Given the description of an element on the screen output the (x, y) to click on. 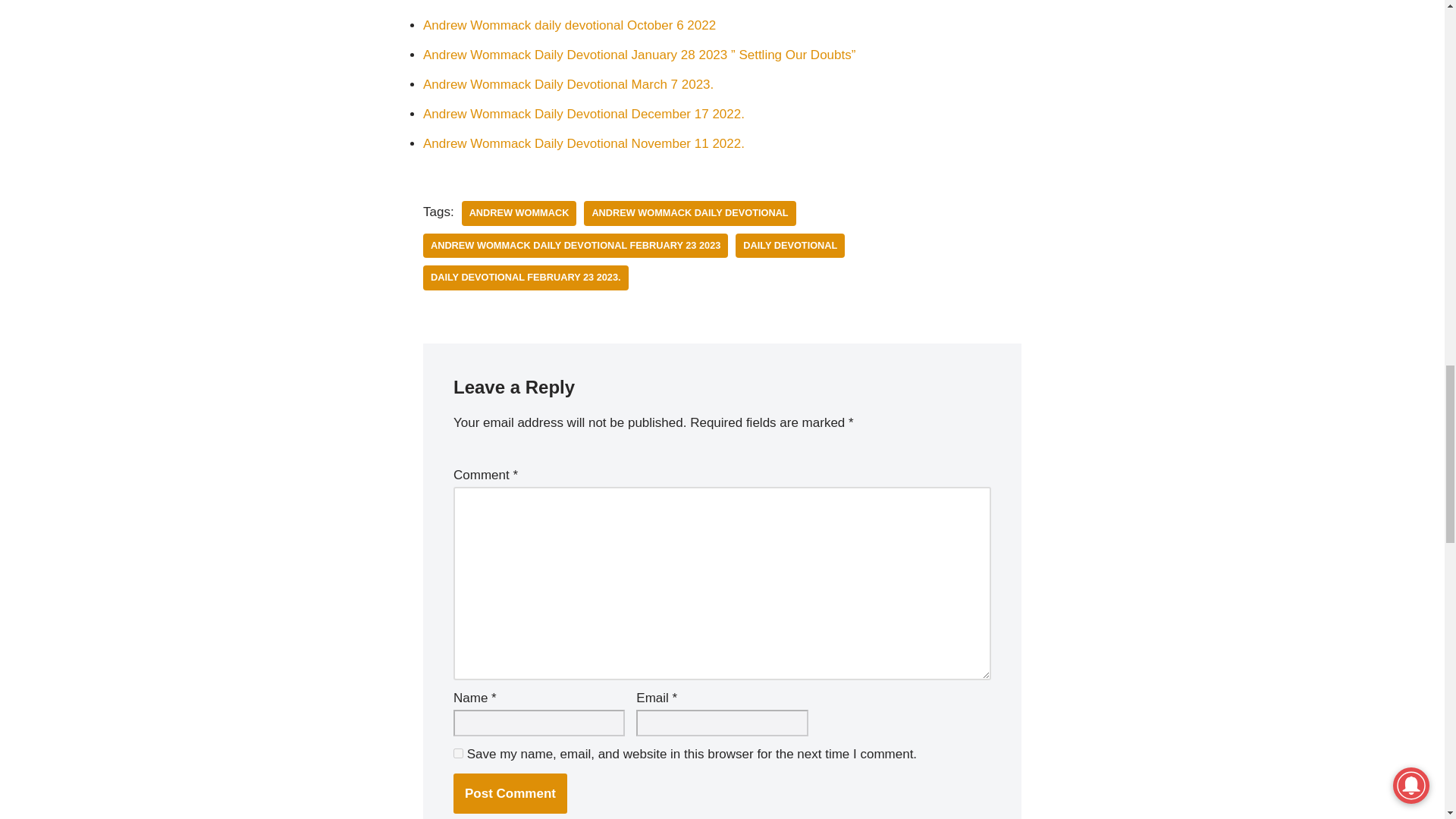
DAILY DEVOTIONAL FEBRUARY 23 2023. (525, 277)
Andrew Wommack Daily Devotional (688, 213)
ANDREW WOMMACK DAILY DEVOTIONAL FEBRUARY 23 2023 (575, 245)
yes (457, 753)
Andrew Wommack Daily Devotional March 7 2023. (568, 83)
Andrew Wommack daily devotional October 6 2022 (569, 25)
ANDREW WOMMACK DAILY DEVOTIONAL (688, 213)
Andrew Wommack Daily Devotional December 17 2022. (583, 114)
DAILY DEVOTIONAL (789, 245)
Post Comment (509, 793)
